Given the description of an element on the screen output the (x, y) to click on. 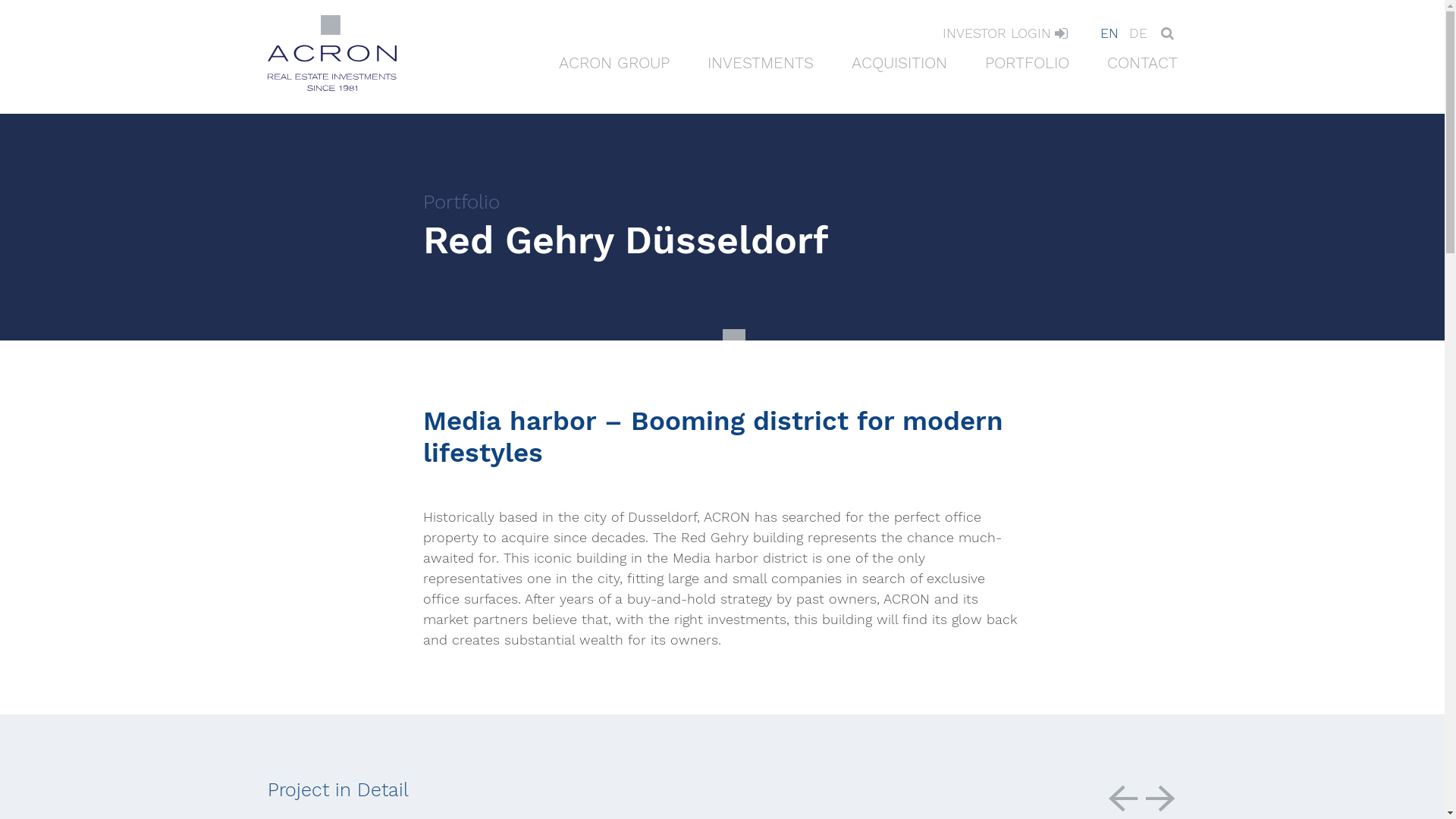
DE Element type: text (1138, 32)
PORTFOLIO Element type: text (1026, 62)
INVESTMENTS Element type: text (759, 62)
ACRON GROUP Element type: text (613, 62)
ACQUISITION Element type: text (898, 62)
INVESTOR LOGIN Element type: text (1000, 34)
CONTACT Element type: text (1138, 62)
EN Element type: text (1109, 32)
